Given the description of an element on the screen output the (x, y) to click on. 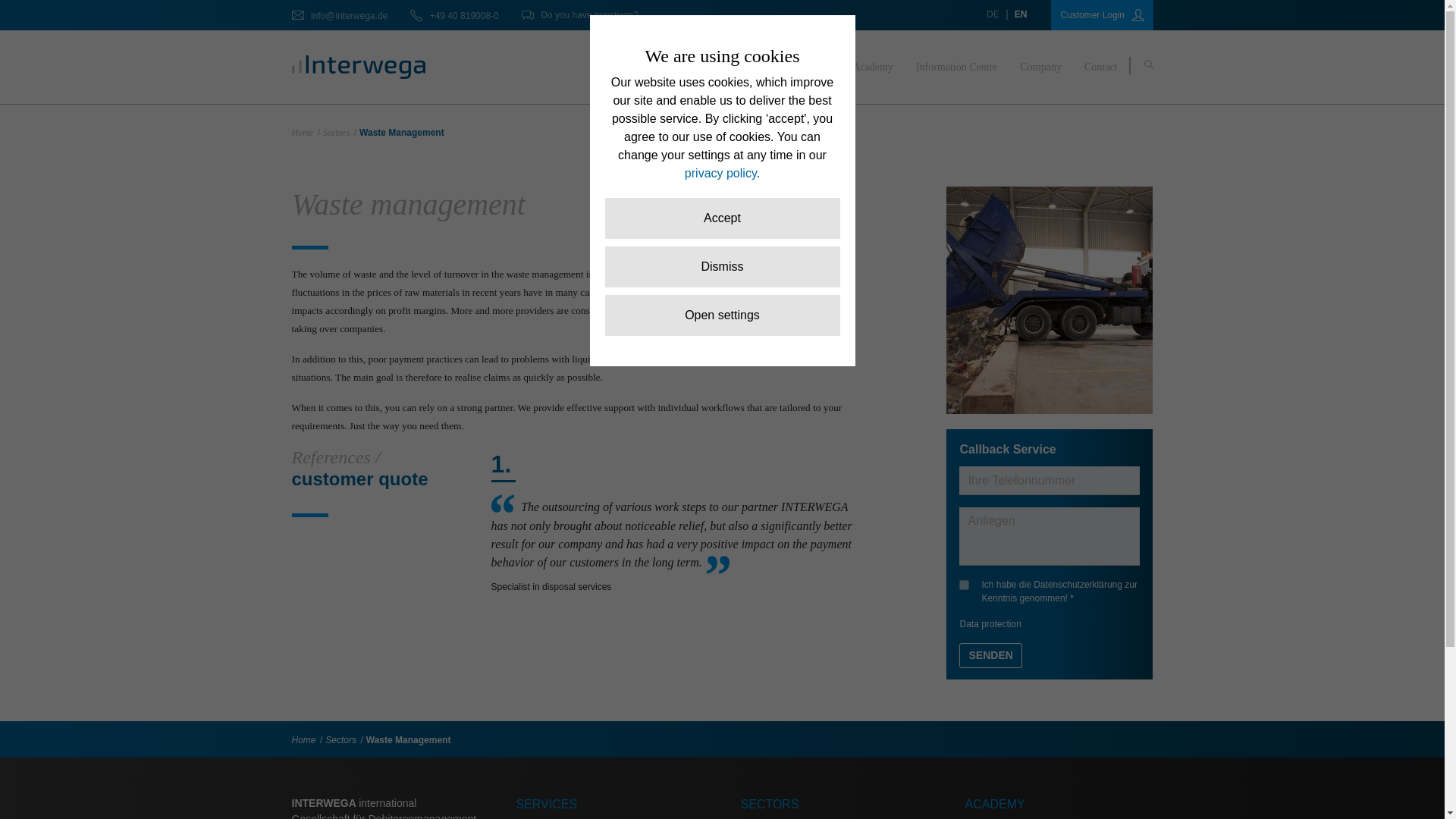
Sectors (336, 132)
Do you have questions? (580, 13)
Waste Management (408, 739)
Sectors (814, 66)
Home (302, 132)
Ja (964, 584)
Company (1040, 66)
EN (1020, 14)
Waste Management (401, 132)
Customer Login (1100, 14)
